Given the description of an element on the screen output the (x, y) to click on. 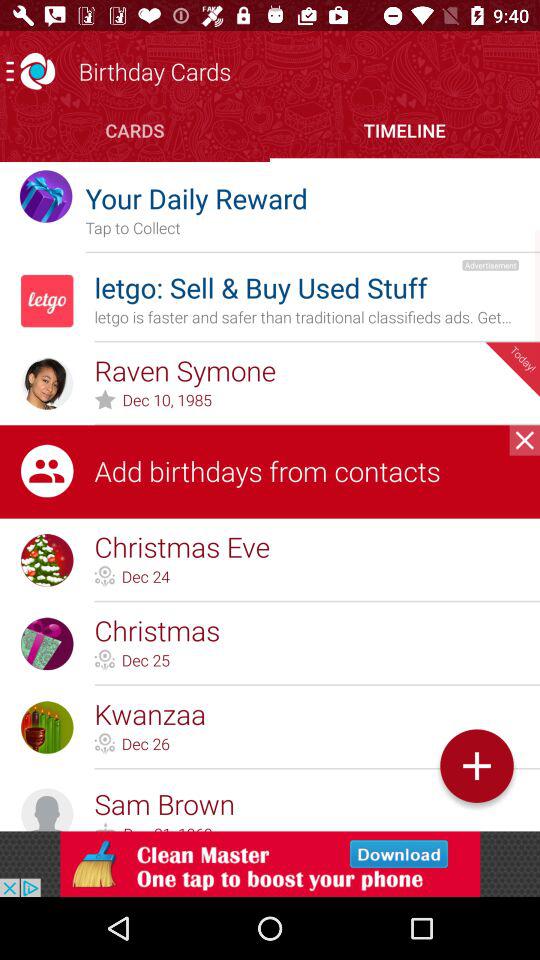
cancel (524, 440)
